Given the description of an element on the screen output the (x, y) to click on. 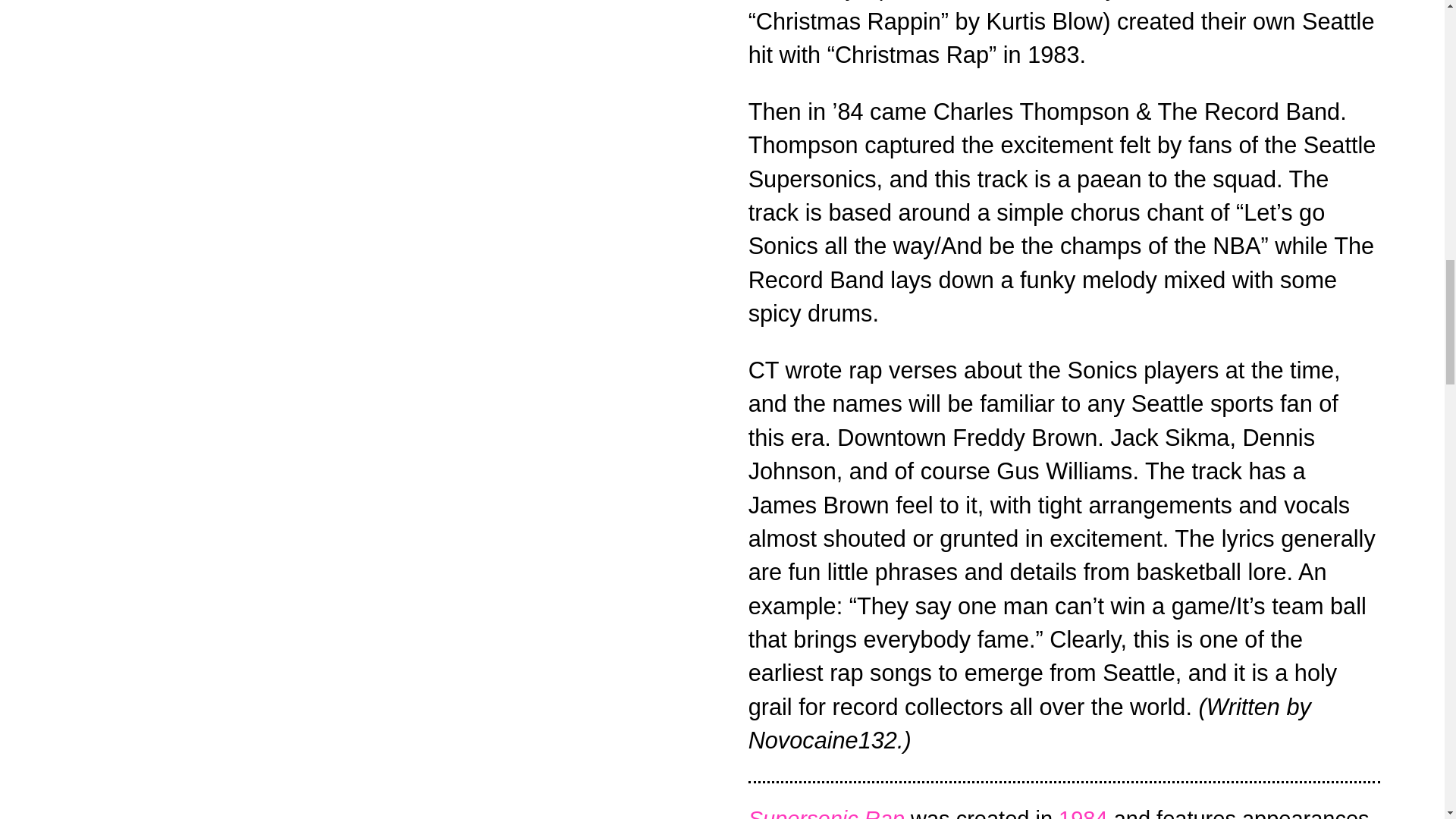
Supersonic Rap (826, 812)
1984 (1083, 812)
